Given the description of an element on the screen output the (x, y) to click on. 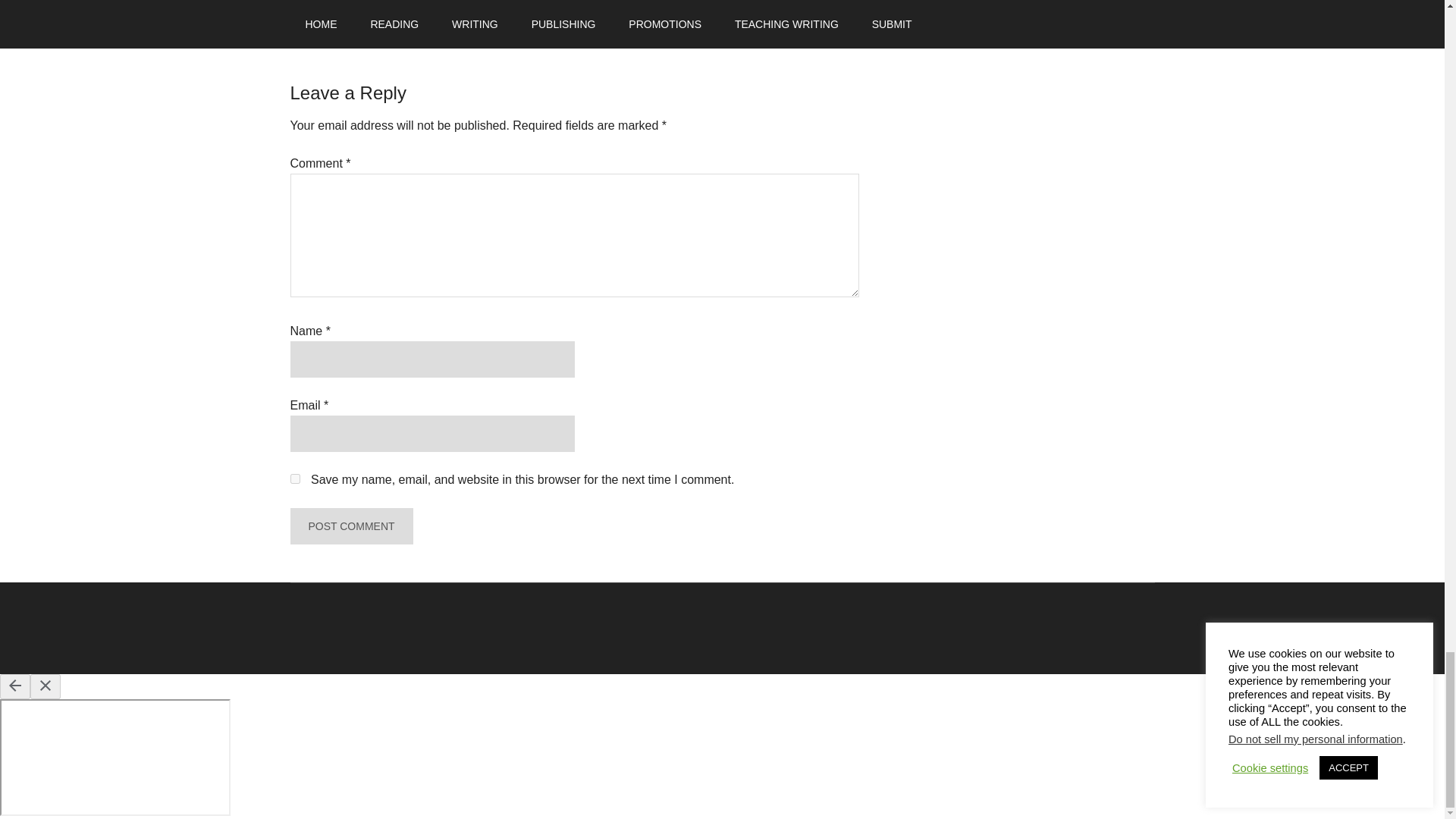
Post Comment (350, 525)
yes (294, 479)
